Given the description of an element on the screen output the (x, y) to click on. 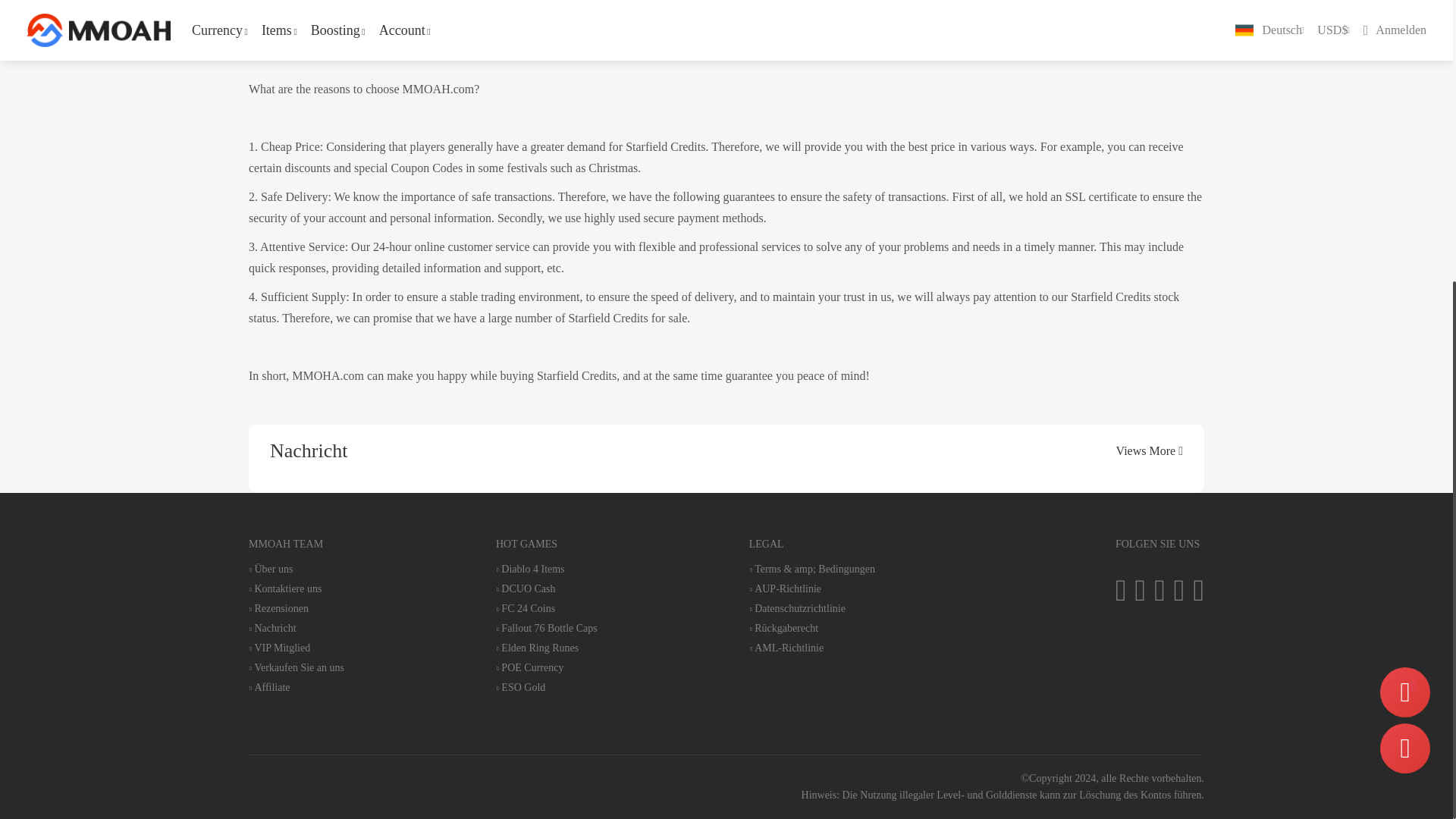
About Us (295, 569)
Contact Us (295, 589)
Affiliate (295, 687)
Diablo 4 Items (546, 569)
Reviews (295, 608)
News (295, 628)
Sell To Us (295, 667)
VIP Member (295, 648)
